Given the description of an element on the screen output the (x, y) to click on. 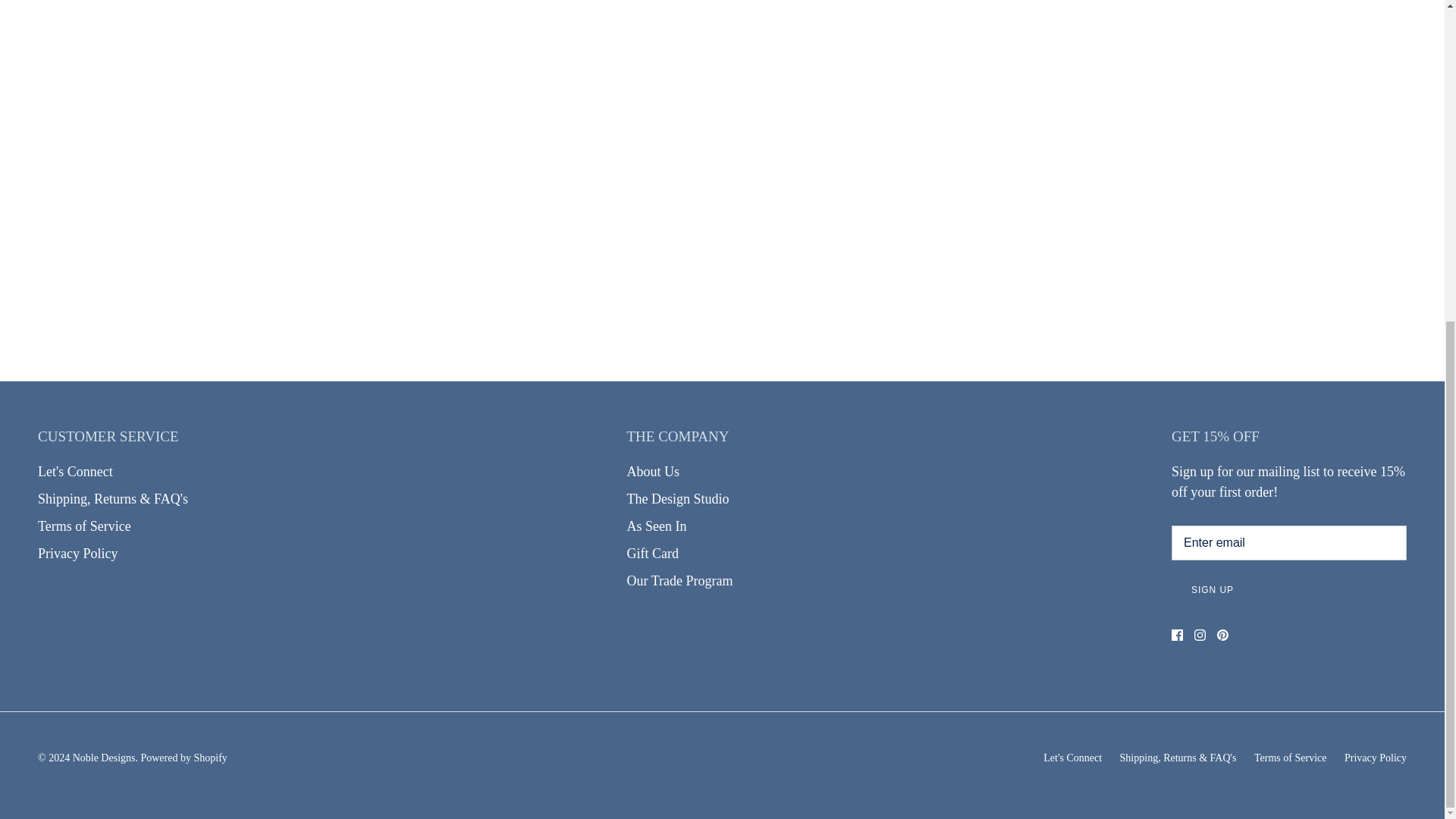
Facebook (1177, 634)
Instagram (1199, 634)
Pinterest (1222, 634)
